Given the description of an element on the screen output the (x, y) to click on. 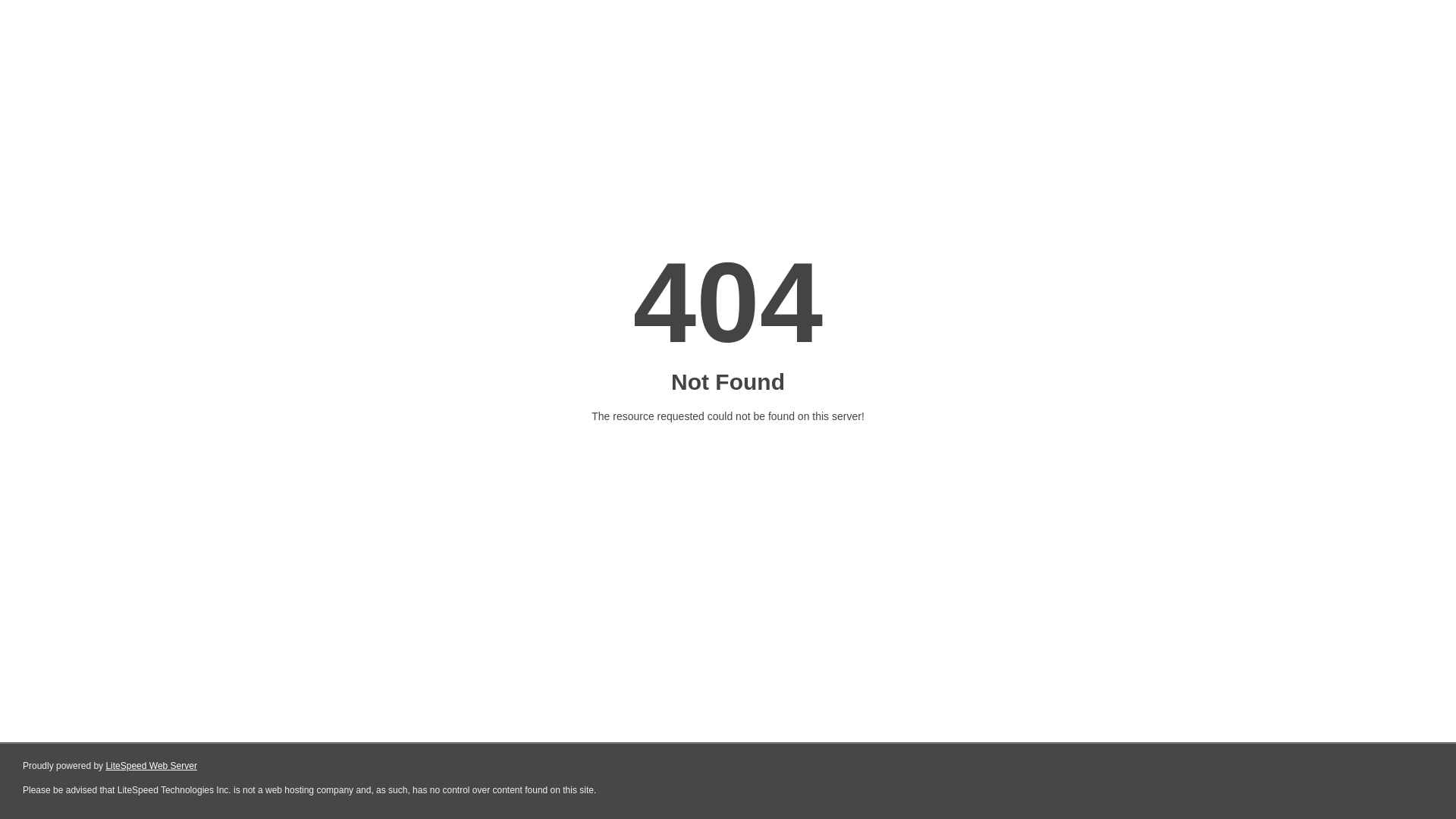
LiteSpeed Web Server Element type: text (151, 765)
